Given the description of an element on the screen output the (x, y) to click on. 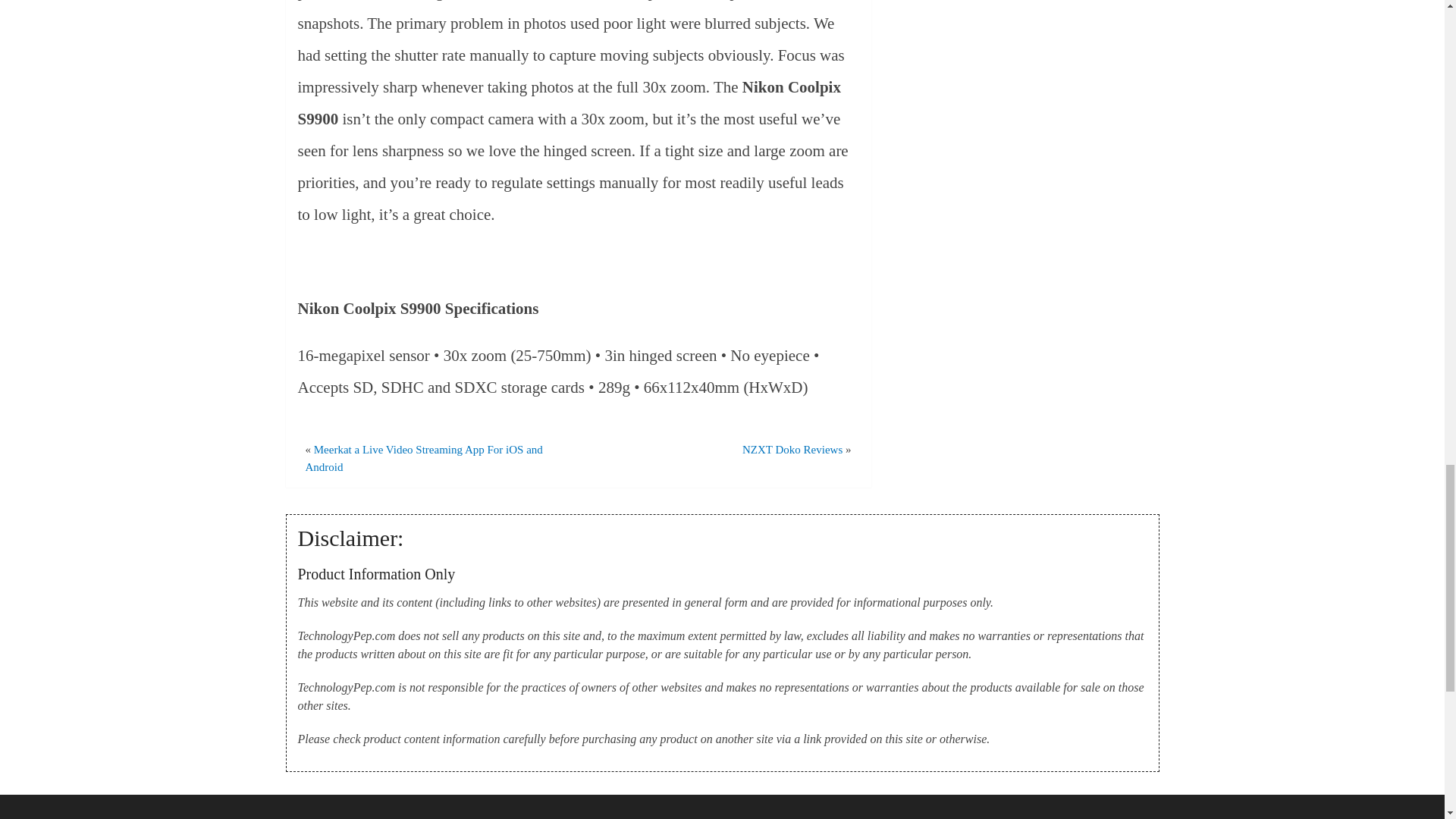
NZXT Doko Reviews (792, 449)
Meerkat a Live Video Streaming App For iOS and Android (422, 458)
